Given the description of an element on the screen output the (x, y) to click on. 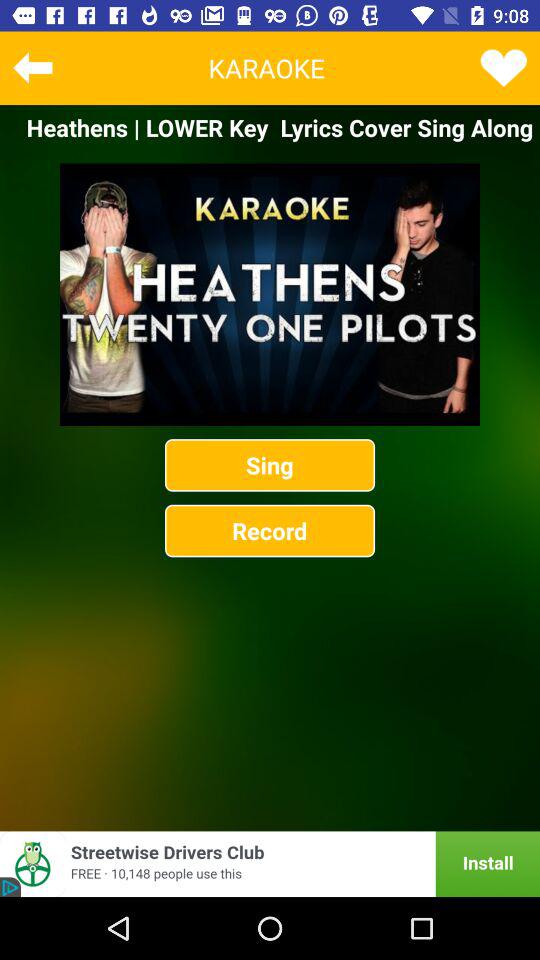
install the app (270, 864)
